Given the description of an element on the screen output the (x, y) to click on. 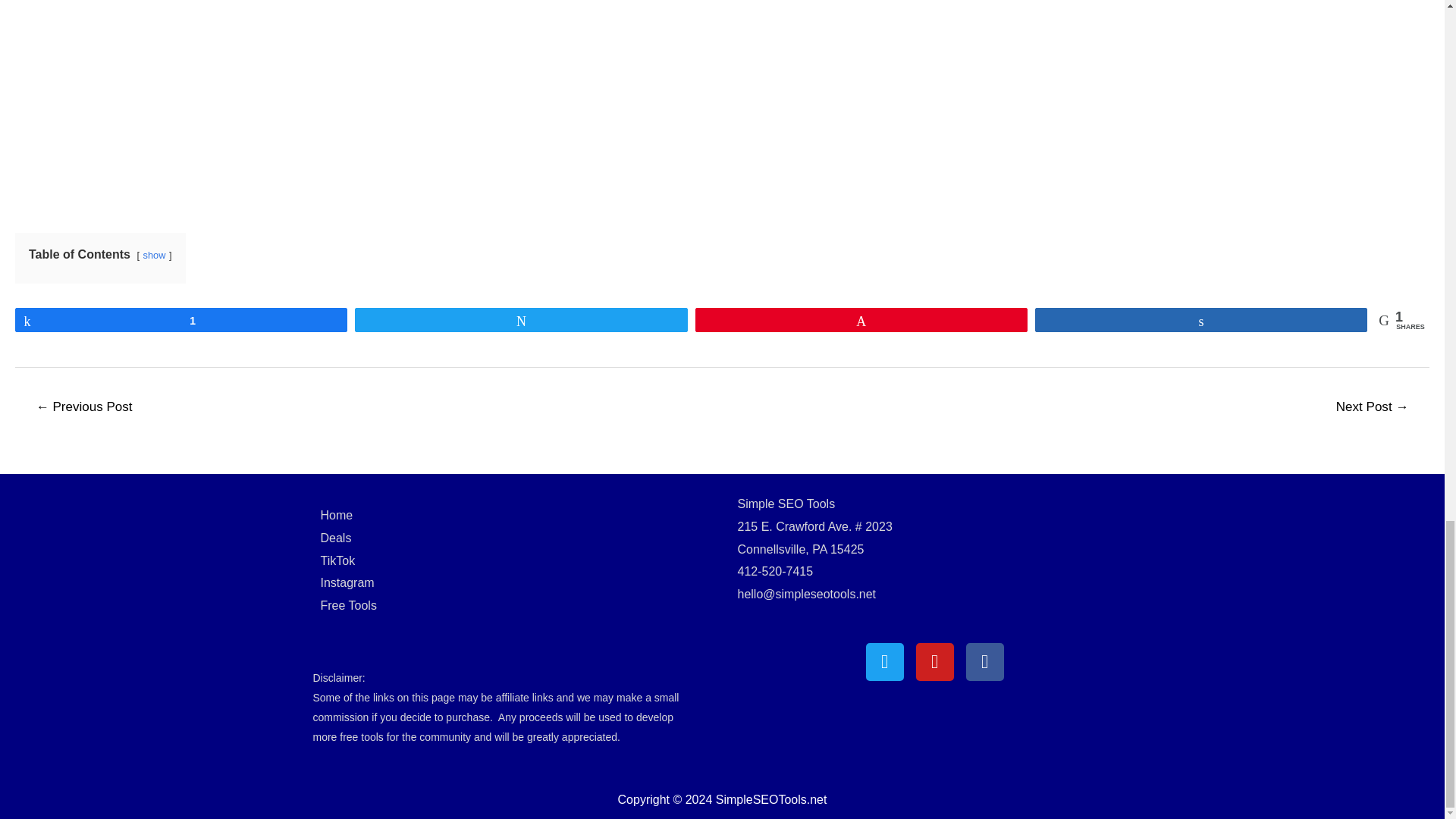
TikTok (337, 560)
Deals (335, 537)
Home (336, 514)
show (153, 255)
412-520-7415 (774, 571)
Free Tools (347, 604)
Instagram (347, 582)
1 (181, 319)
